Given the description of an element on the screen output the (x, y) to click on. 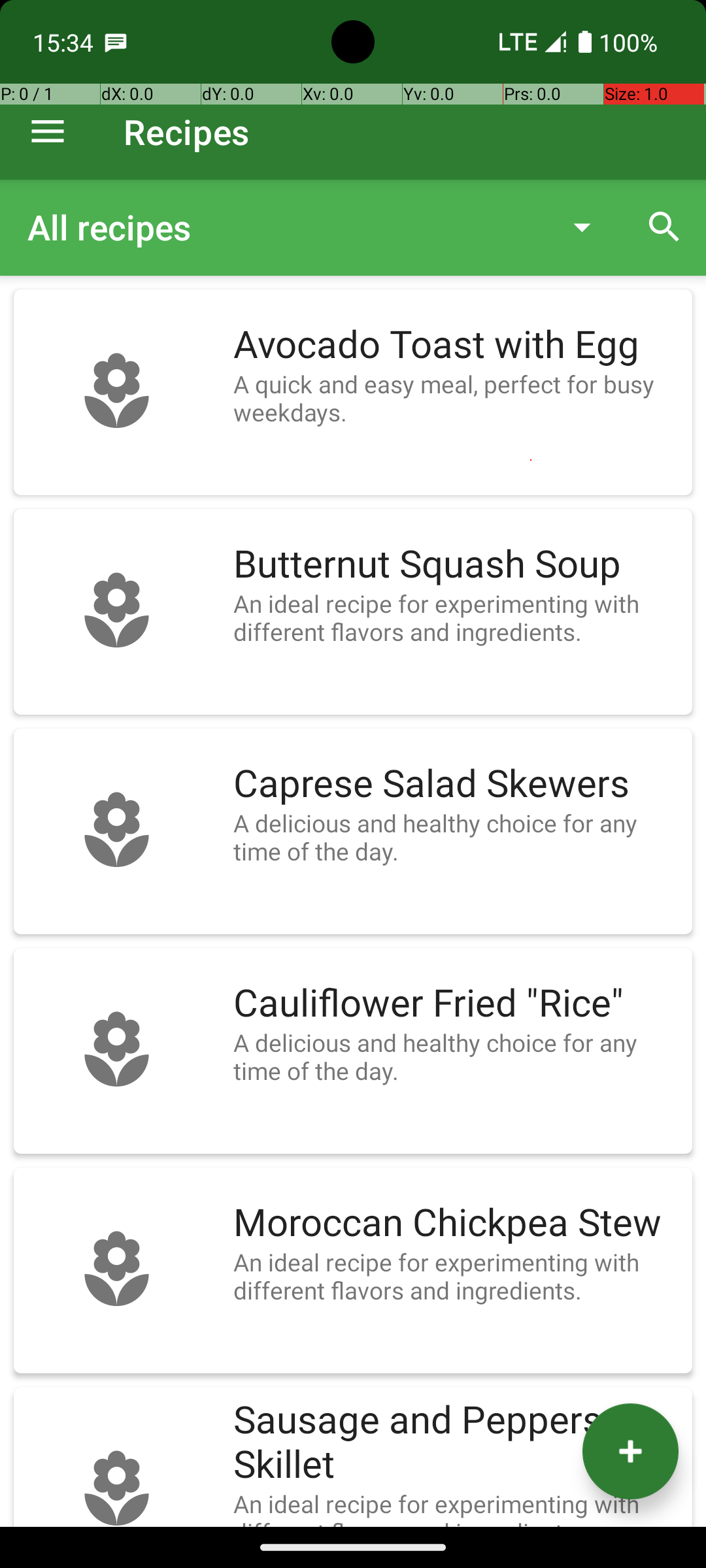
Sausage and Peppers Skillet Element type: android.widget.TextView (455, 1442)
